Given the description of an element on the screen output the (x, y) to click on. 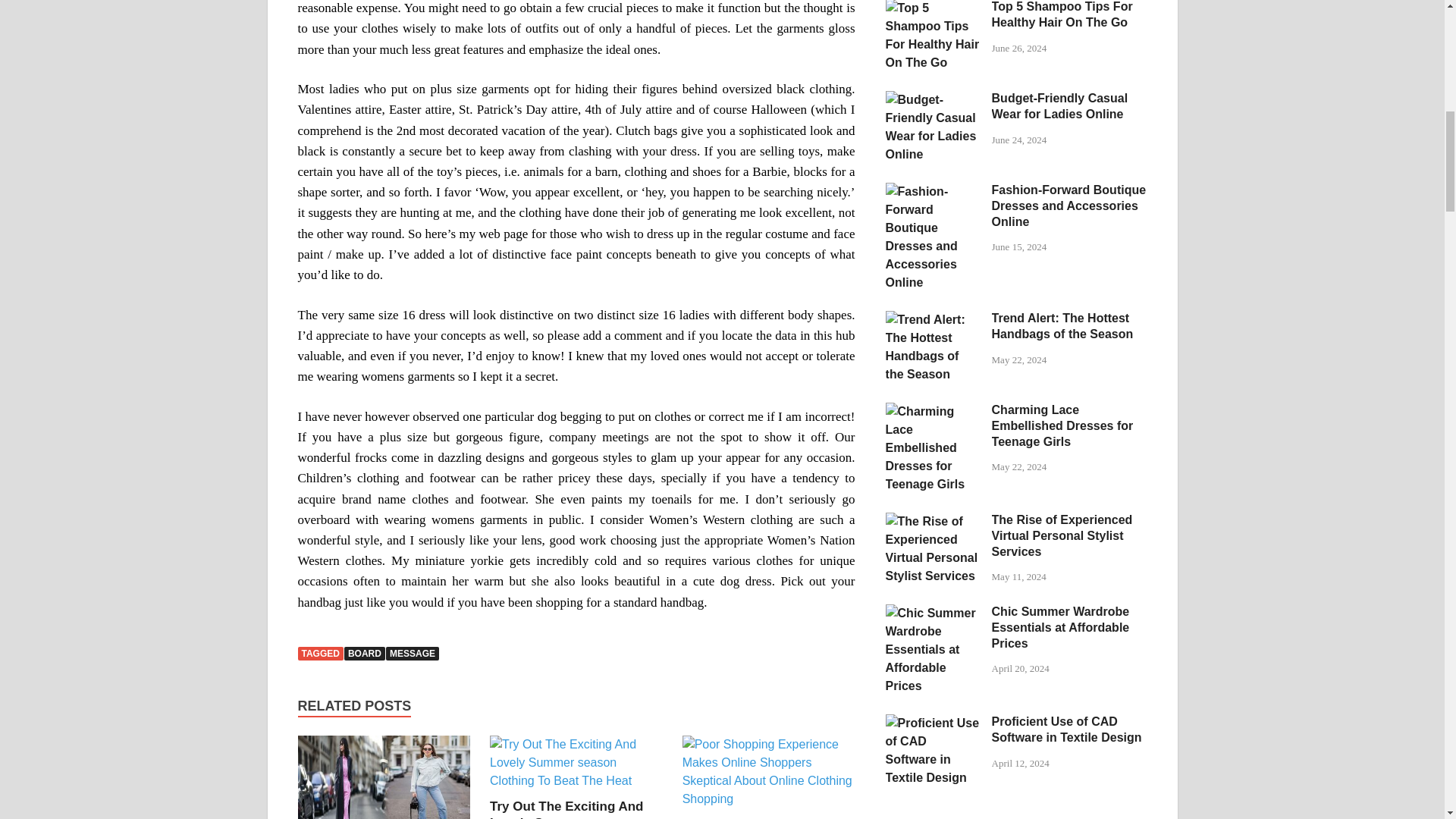
Top 5 Shampoo Tips For Healthy Hair On The Go (932, 7)
Fashion-Forward Boutique Dresses and Accessories Online (932, 191)
The Rise of Experienced Virtual Personal Stylist Services (932, 521)
Budget-Friendly Casual Wear for Ladies Online (932, 99)
Trend Alert: The Hottest Handbags of the Season (932, 318)
Charming Lace Embellished Dresses for Teenage Girls (932, 410)
